Given the description of an element on the screen output the (x, y) to click on. 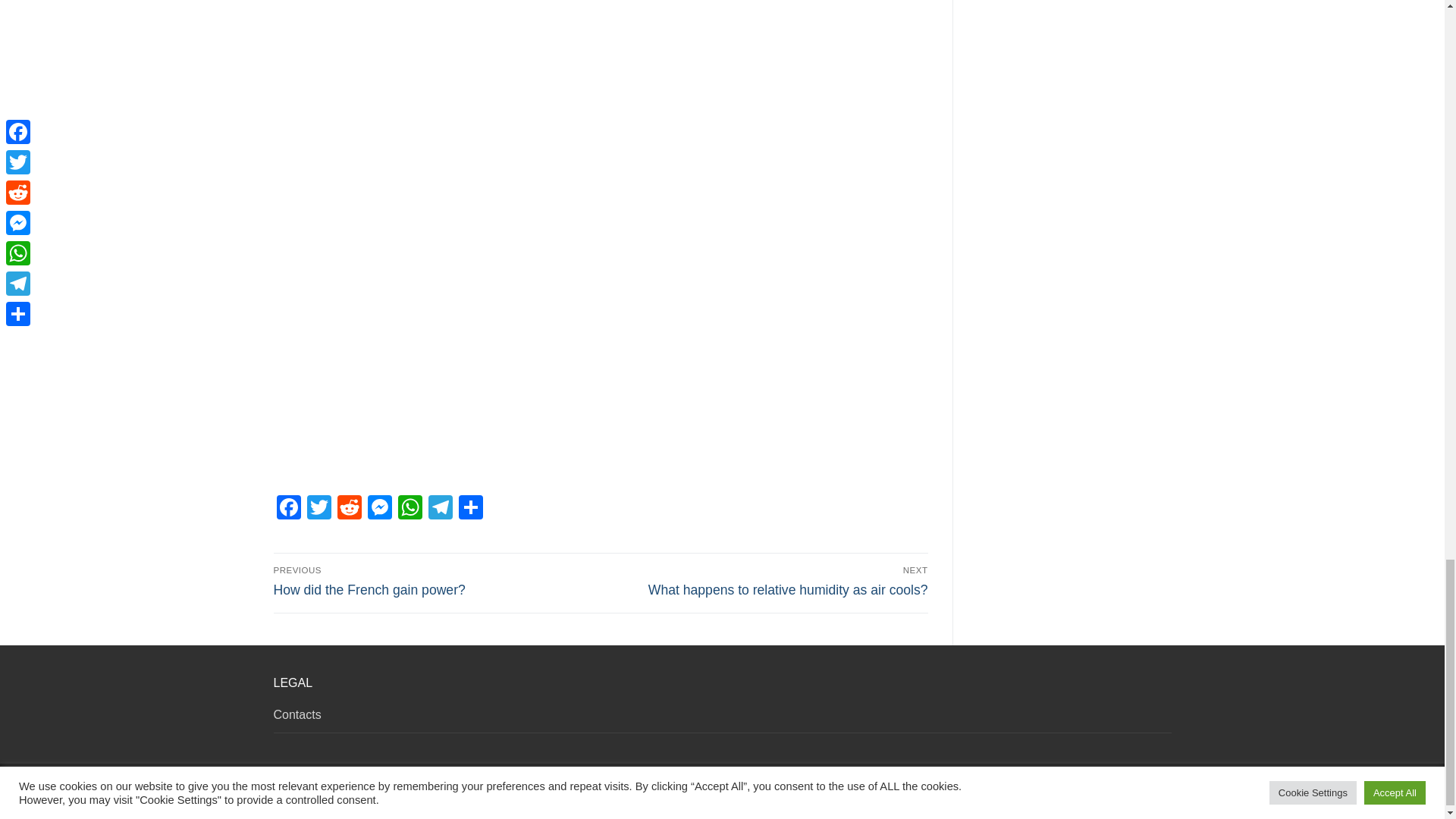
Reddit (348, 509)
Messenger (433, 581)
Twitter (379, 509)
Telegram (317, 509)
Browning A5 Cycling Issue (439, 509)
Facebook (409, 509)
Facebook (287, 509)
Telegram (287, 509)
